Given the description of an element on the screen output the (x, y) to click on. 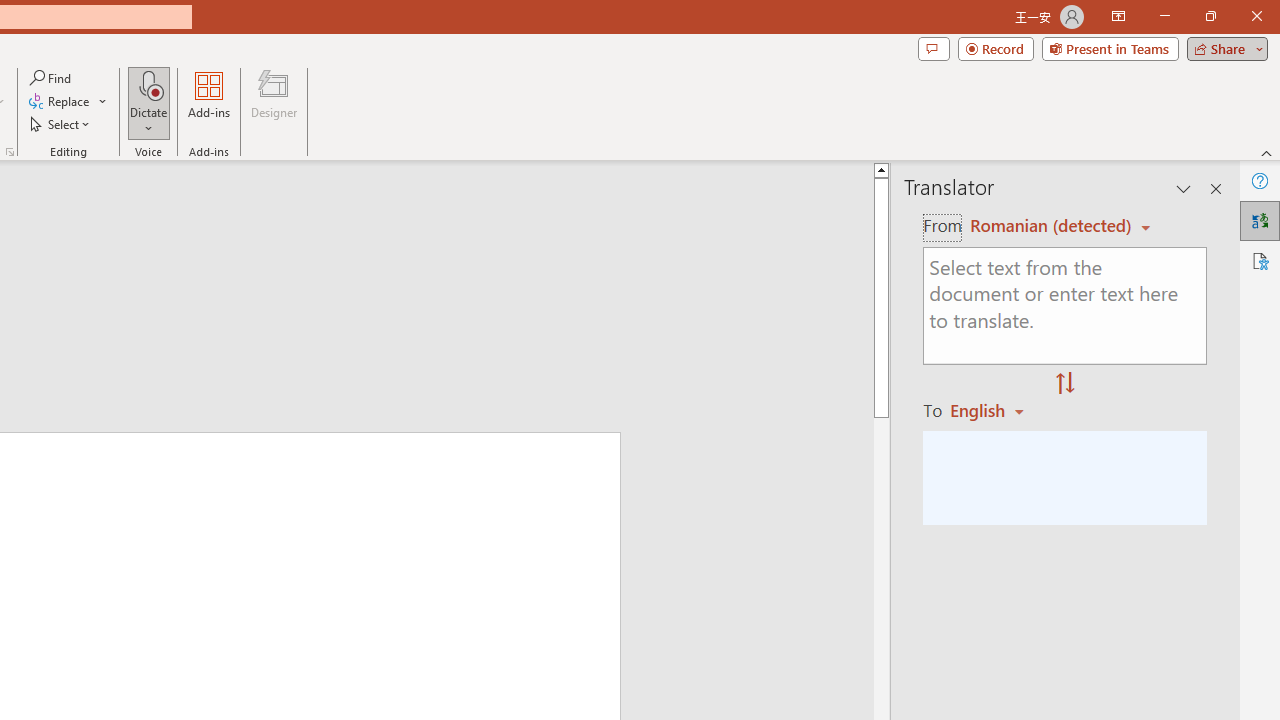
Romanian (detected) (1047, 225)
